Given the description of an element on the screen output the (x, y) to click on. 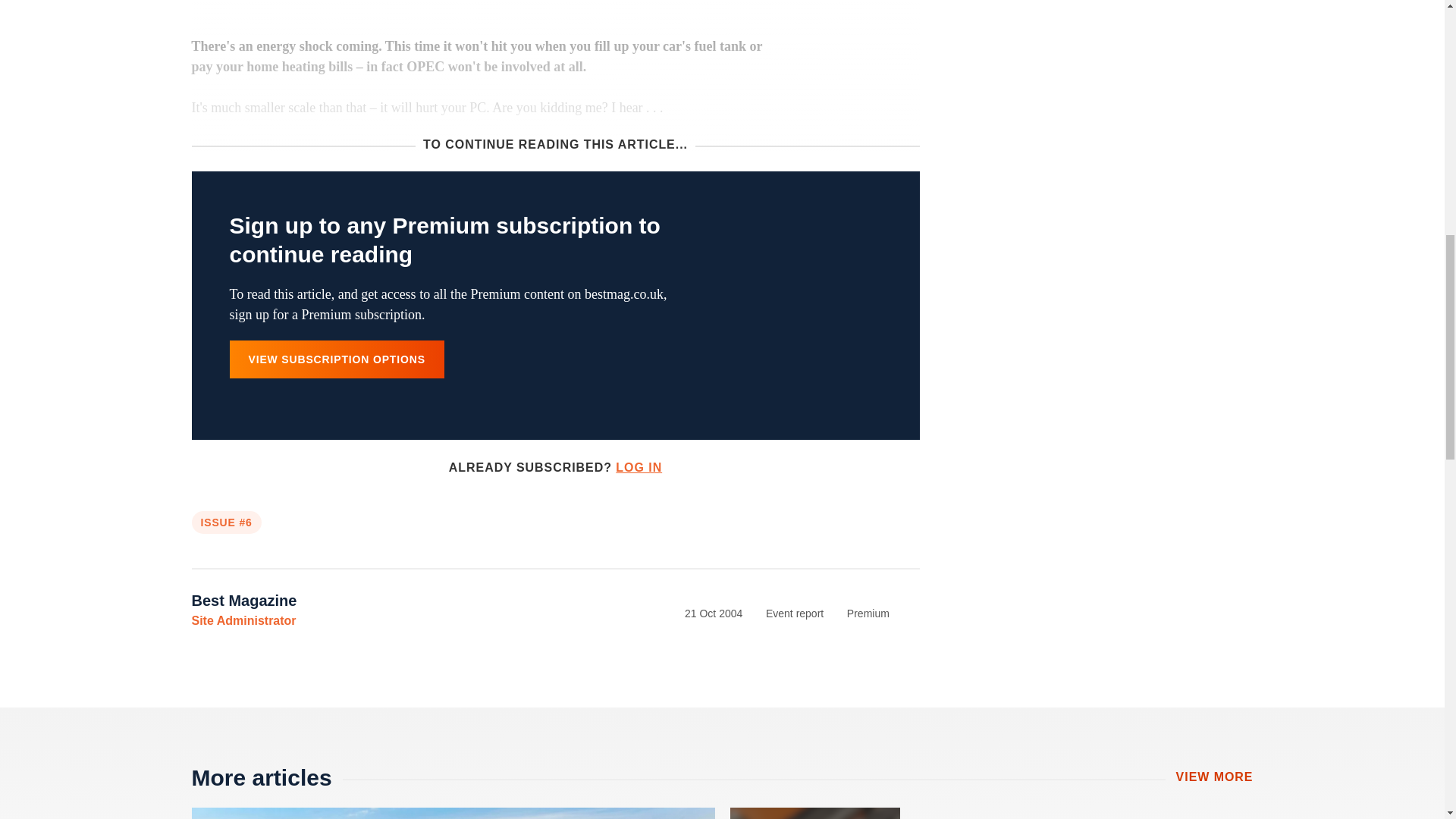
VIEW SUBSCRIPTION OPTIONS (336, 359)
LOG IN (638, 467)
